Given the description of an element on the screen output the (x, y) to click on. 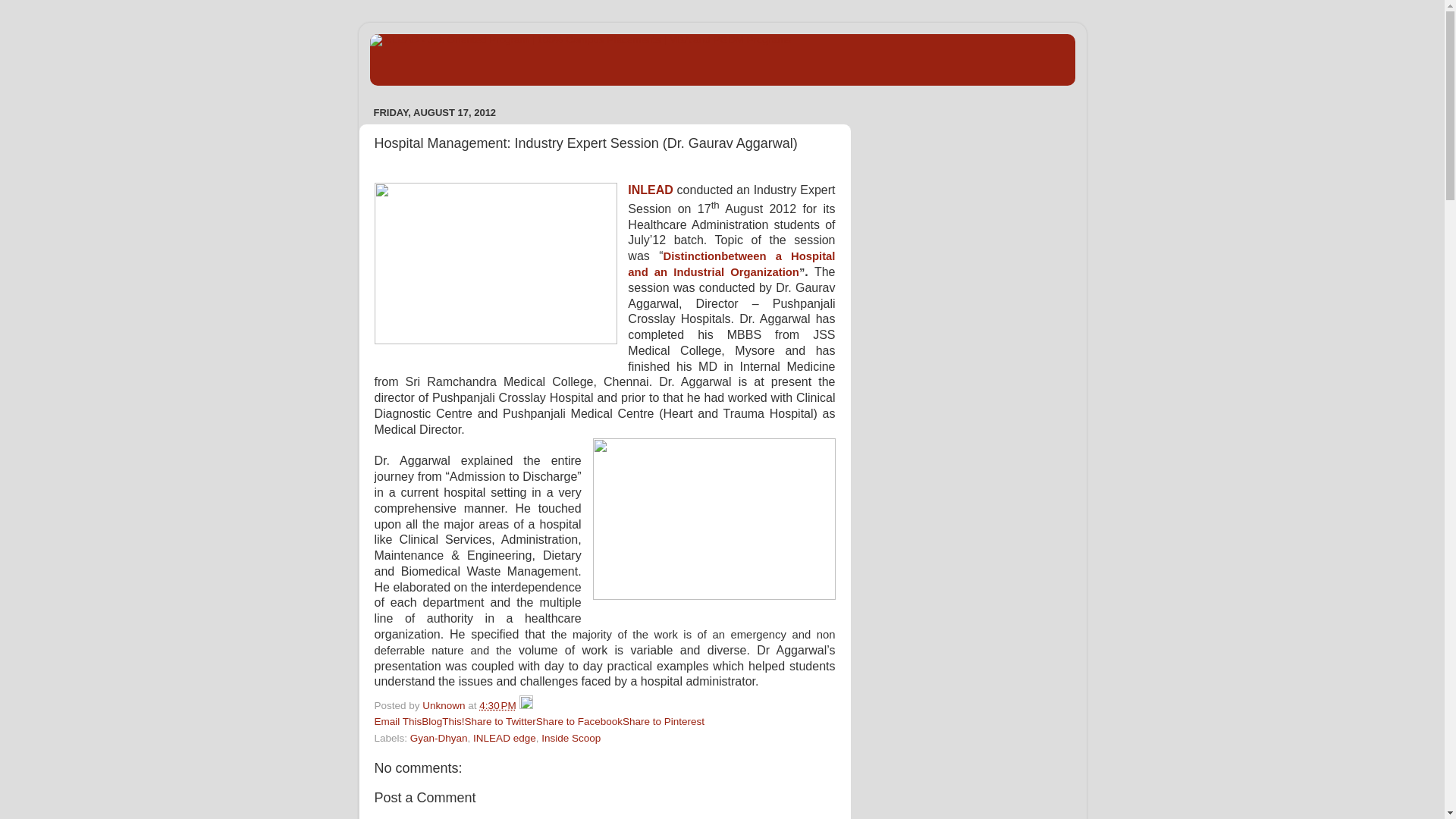
Share to Twitter (499, 721)
Share to Pinterest (663, 721)
Email This (398, 721)
Share to Pinterest (663, 721)
Edit Post (525, 705)
Unknown (444, 705)
Share to Facebook (579, 721)
BlogThis! (443, 721)
Share to Twitter (499, 721)
INLEAD edge (504, 737)
Share to Facebook (579, 721)
Distinctionbetween a Hospital and an Industrial Organization (730, 264)
INLEAD (649, 189)
permanent link (497, 705)
Email This (398, 721)
